Given the description of an element on the screen output the (x, y) to click on. 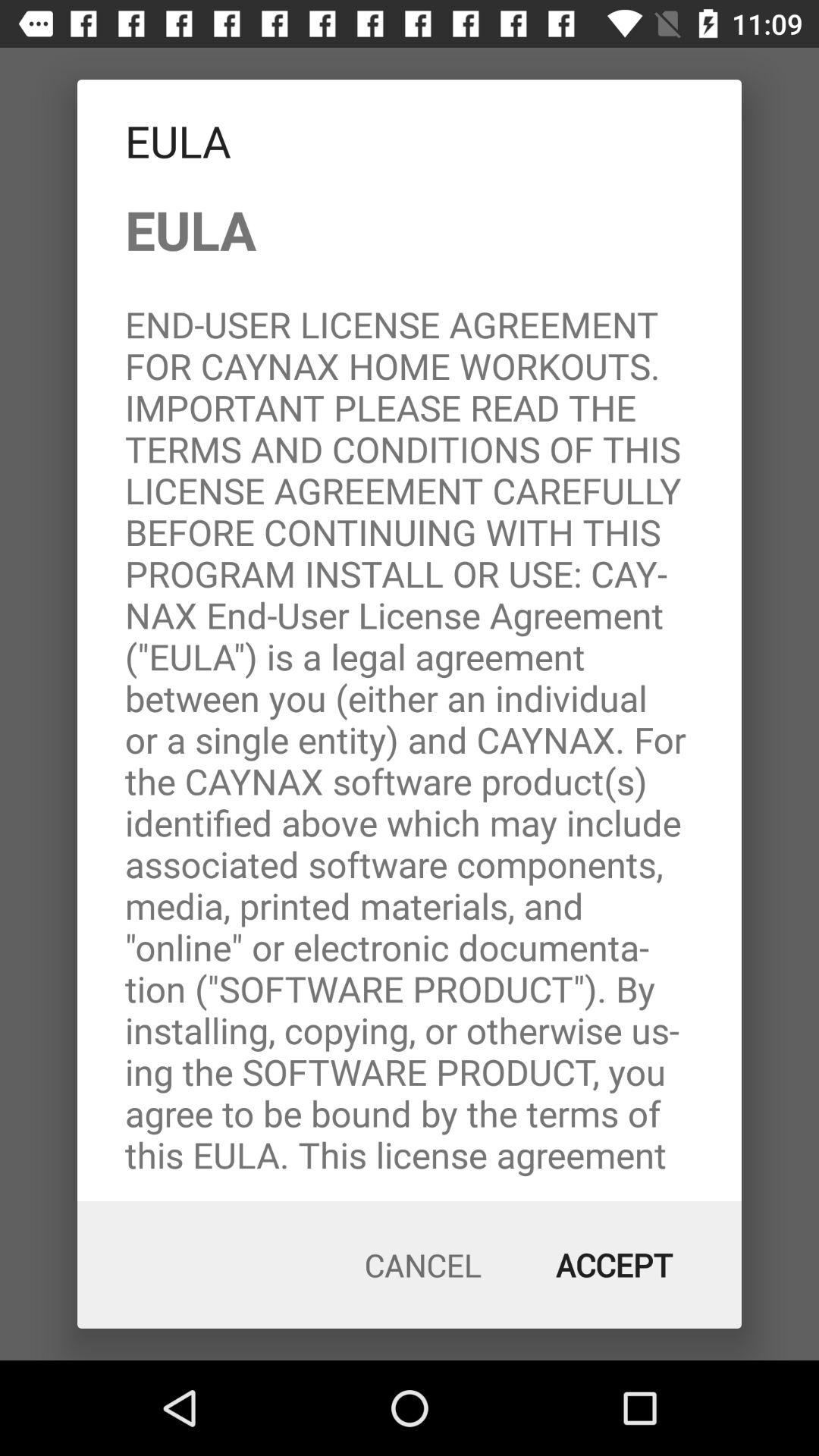
select the app below the eula end user item (422, 1264)
